Given the description of an element on the screen output the (x, y) to click on. 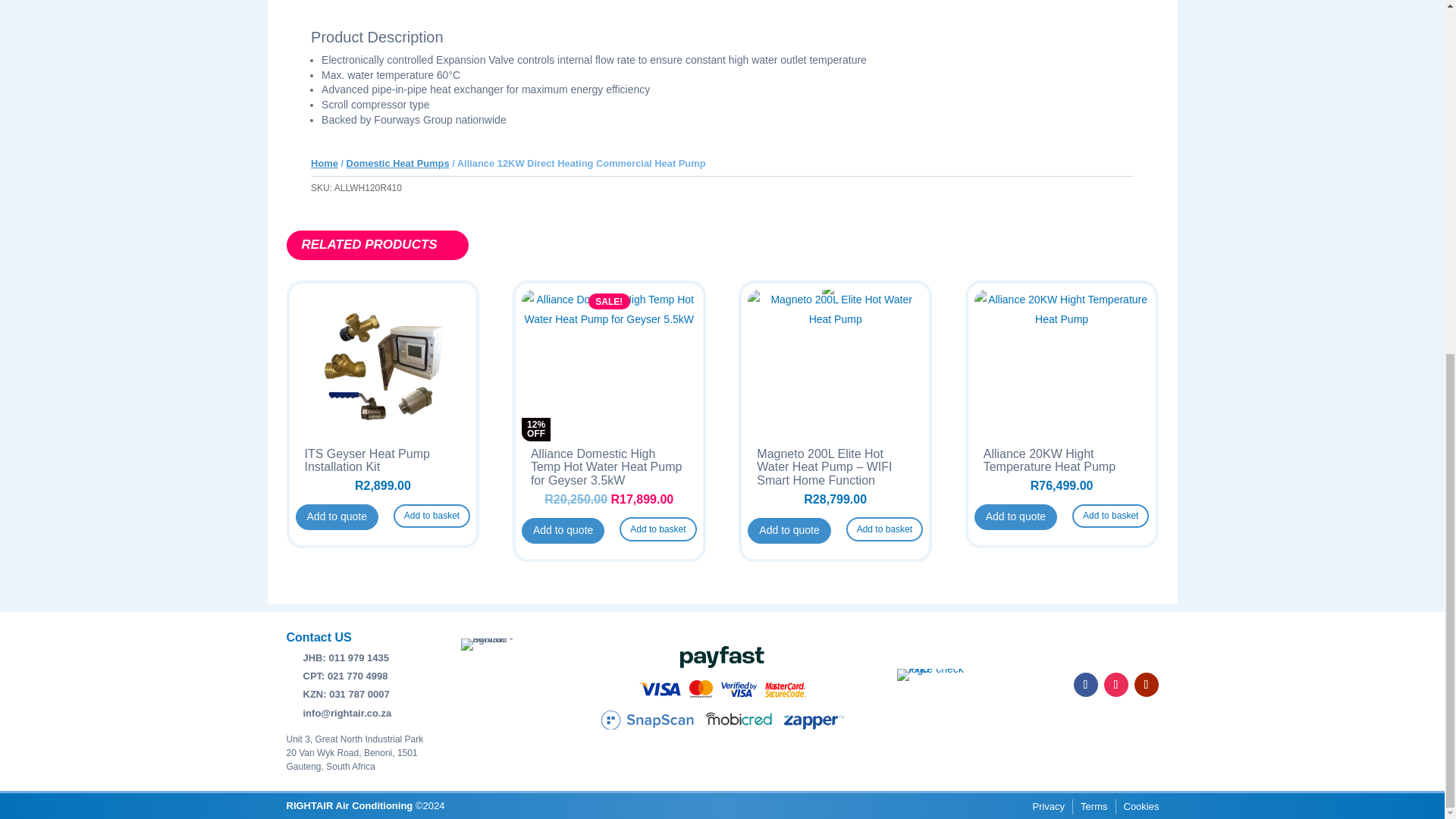
Follow on Youtube (1146, 684)
Follow on Instagram (1115, 684)
price-check-logo (929, 674)
Follow on Facebook (1085, 684)
RightAir-Service (495, 644)
